Given the description of an element on the screen output the (x, y) to click on. 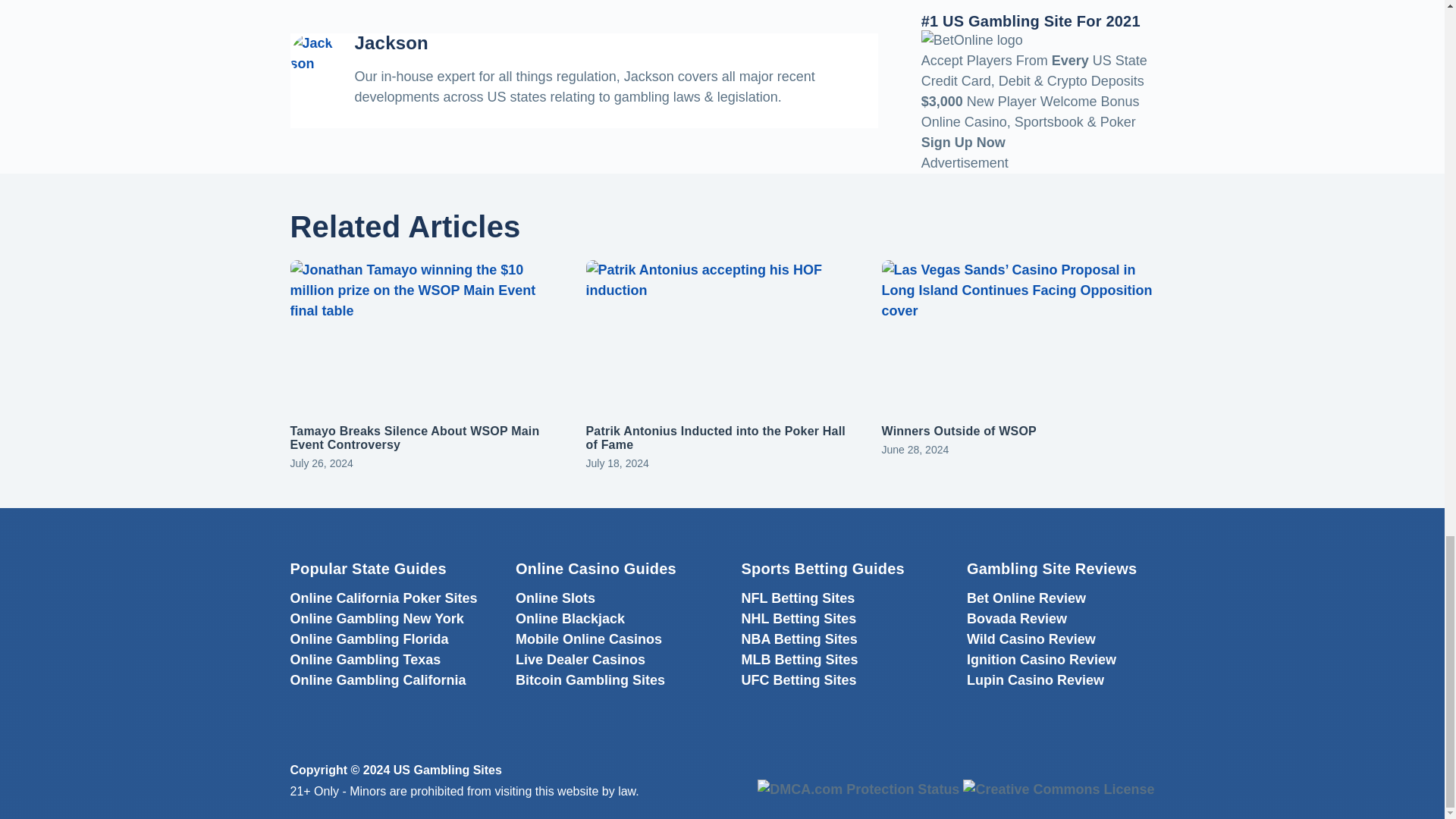
Online Blackjack (569, 618)
Live Dealer Casinos (580, 659)
Online Gambling Texas (365, 659)
Online California Poker Sites (383, 598)
DMCA.com Protection Status (858, 788)
Online Slots (555, 598)
Patrik Antonius Inducted into the Poker Hall of Fame (714, 438)
Online Gambling New York (376, 618)
Online Gambling California (377, 679)
Winners Outside of WSOP (957, 431)
Online Gambling Florida (368, 639)
Mobile Online Casinos (588, 639)
Tamayo Breaks Silence About WSOP Main Event Controversy (413, 438)
